Given the description of an element on the screen output the (x, y) to click on. 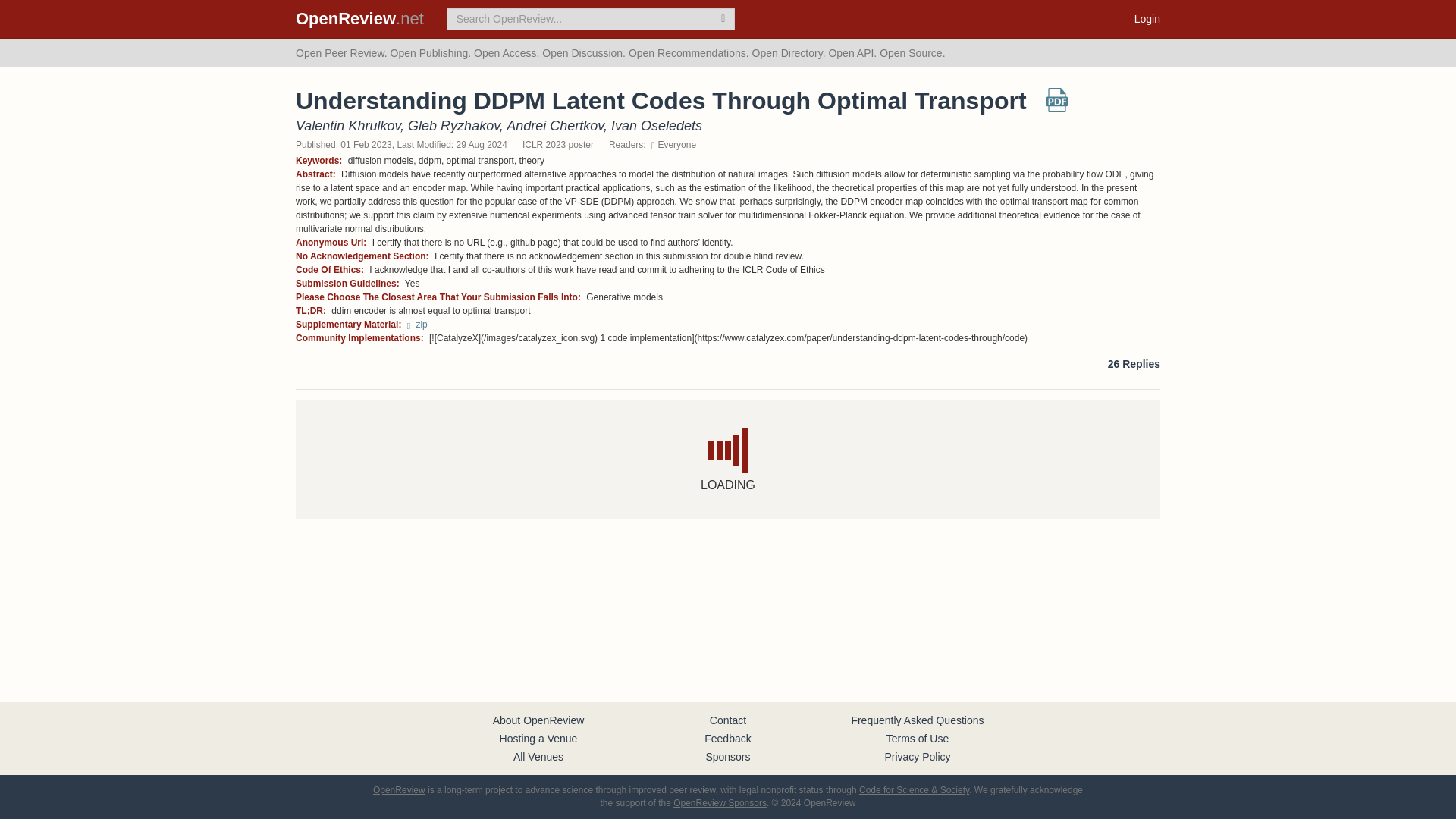
Andrei Chertkov (555, 125)
 zip (417, 324)
OpenReview (398, 789)
Ivan Oseledets (656, 125)
About OpenReview (539, 720)
OpenReview.net (359, 18)
Download Supplementary Material (417, 324)
OpenReview Sponsors (719, 802)
Gleb Ryzhakov (453, 125)
Hosting a Venue (538, 738)
